Given the description of an element on the screen output the (x, y) to click on. 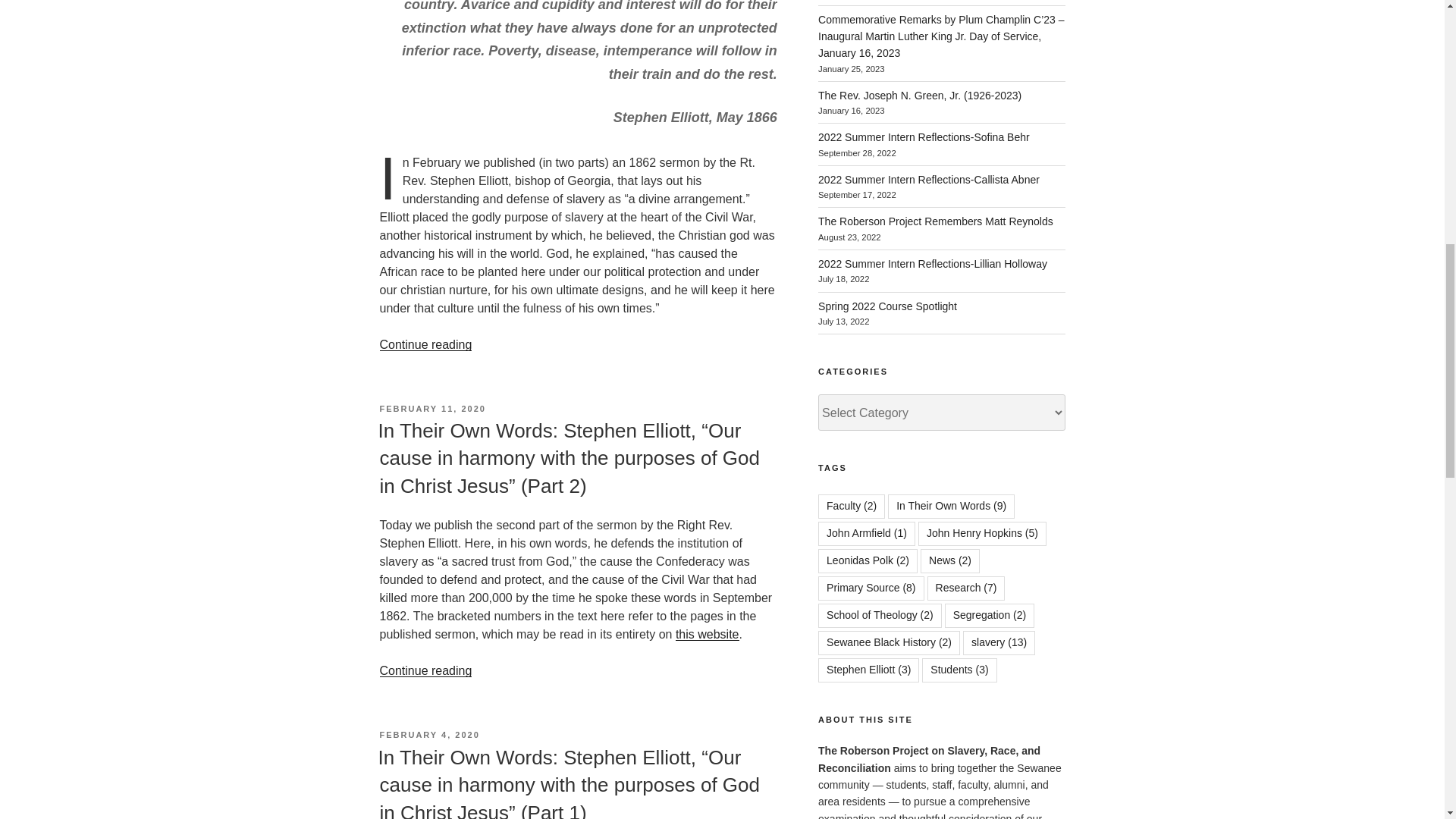
this website (707, 634)
FEBRUARY 4, 2020 (428, 734)
2022 Summer Intern Reflections-Lillian Holloway (932, 263)
FEBRUARY 11, 2020 (431, 408)
Spring 2022 Course Spotlight (887, 306)
2022 Summer Intern Reflections-Sofina Behr (923, 137)
The Roberson Project Remembers Matt Reynolds (935, 221)
2022 Summer Intern Reflections-Callista Abner (928, 179)
